Given the description of an element on the screen output the (x, y) to click on. 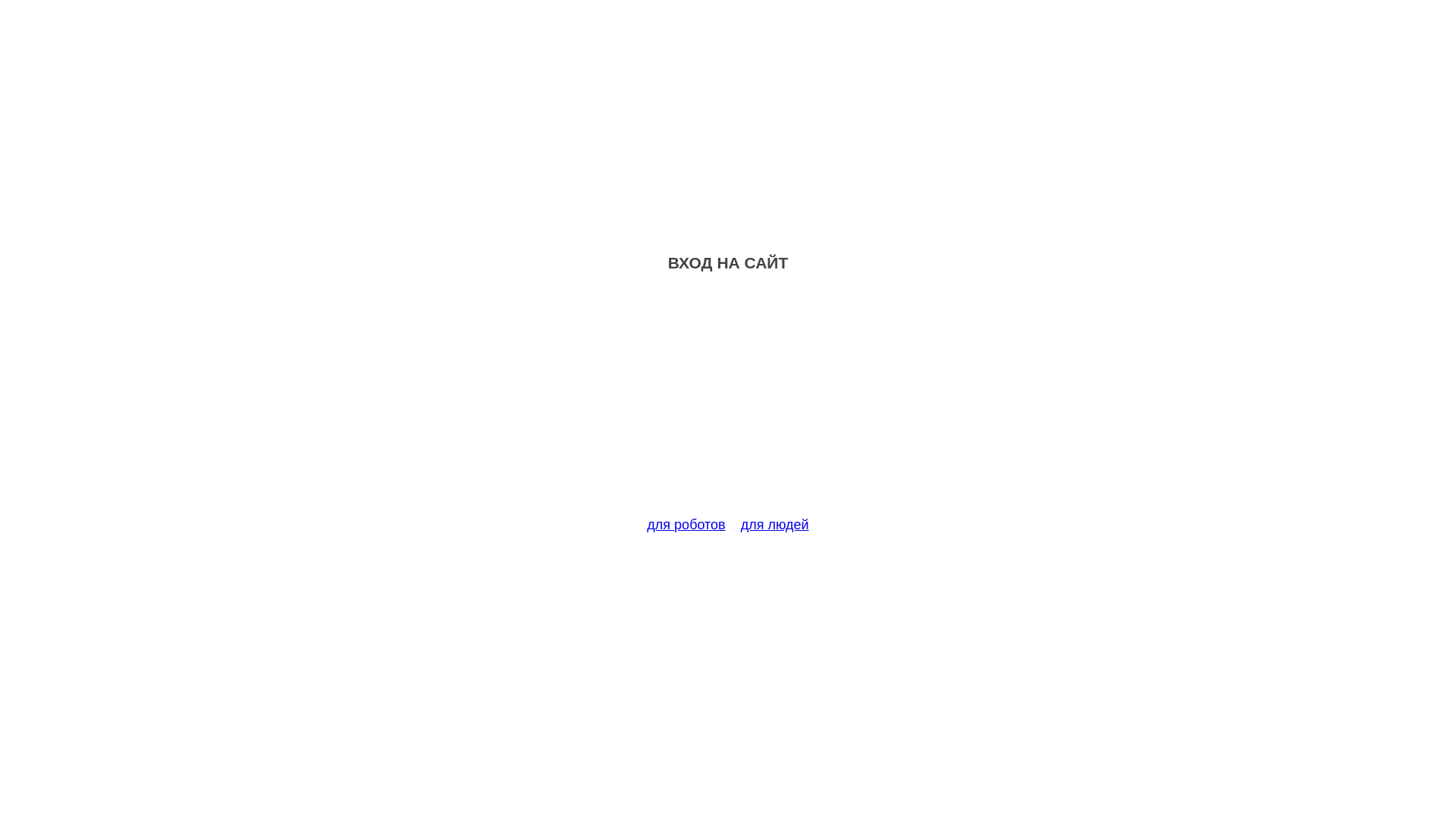
Advertisement Element type: hover (727, 403)
